Given the description of an element on the screen output the (x, y) to click on. 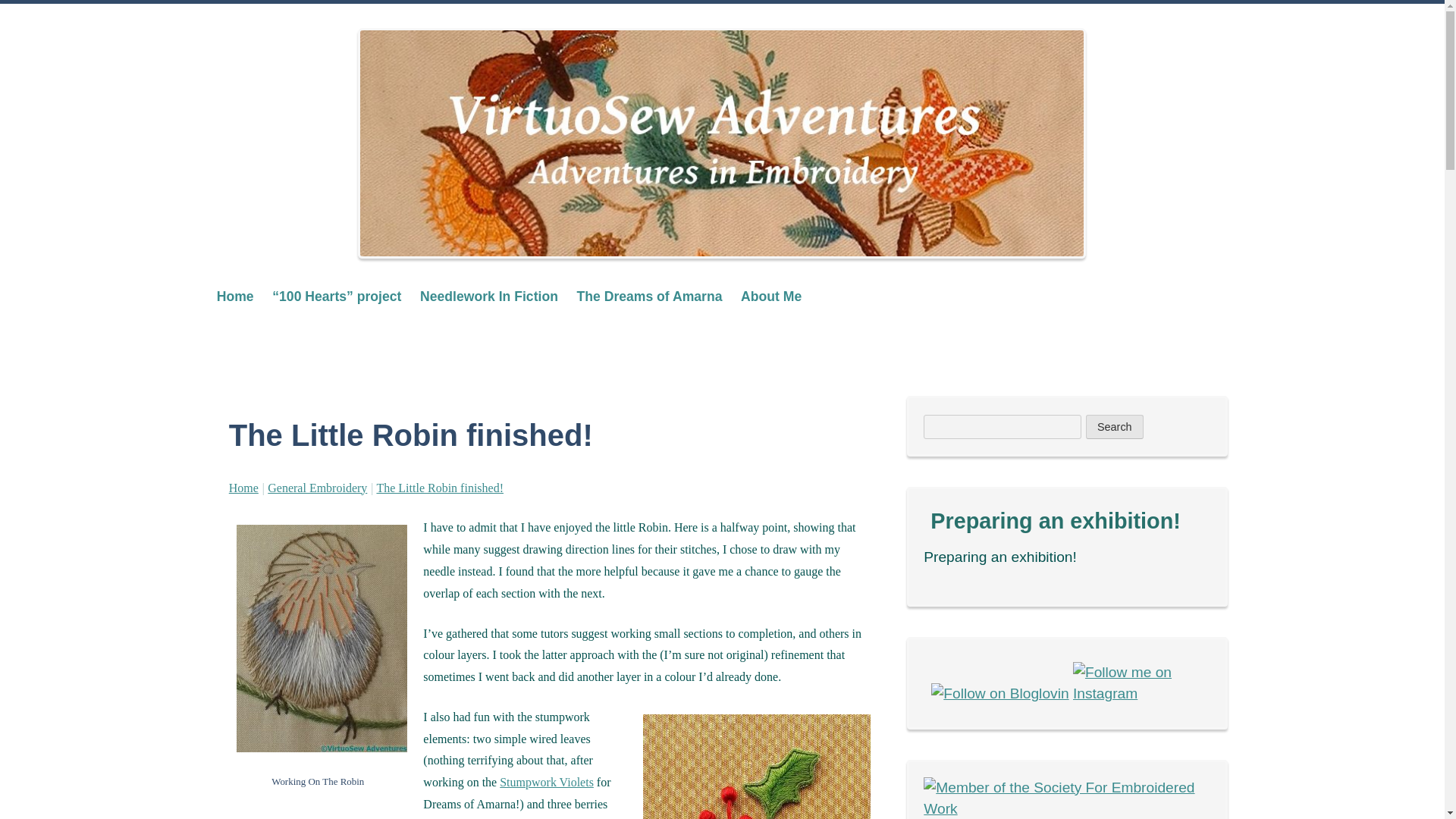
The Little Robin finished! (439, 487)
Needlework In Fiction (488, 296)
General Embroidery (316, 487)
Search (1114, 426)
Stumpwork Violets (546, 781)
The Dreams of Amarna (649, 296)
Home (243, 487)
About Me (771, 296)
Follow VirtuoSew Adventures on Bloglovin (999, 693)
